Given the description of an element on the screen output the (x, y) to click on. 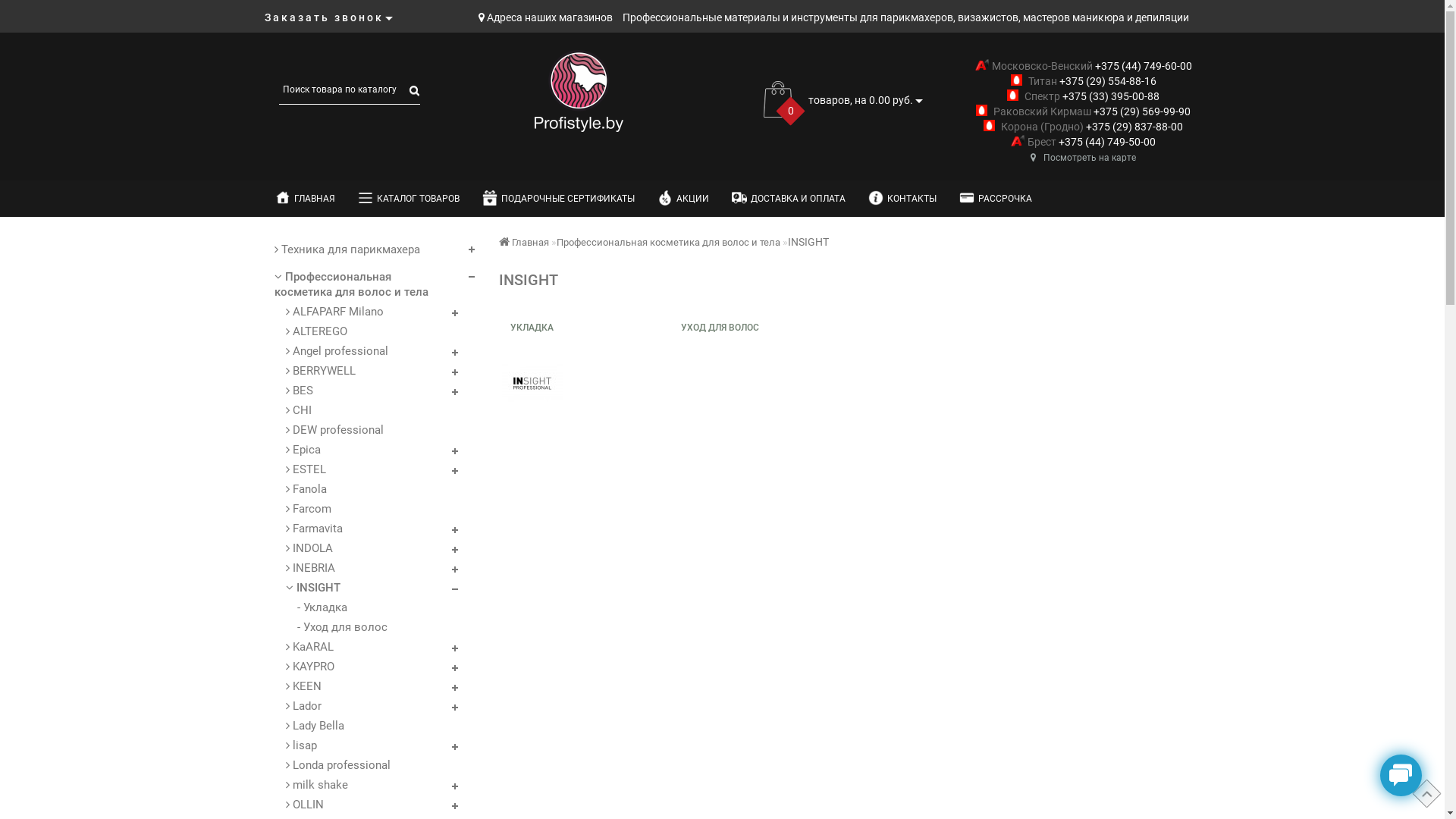
KAYPRO Element type: text (364, 666)
+375 (44) 749-50-00 Element type: text (1105, 141)
MTS Element type: hover (981, 64)
Lady Bella Element type: text (364, 725)
Fanola Element type: text (364, 488)
+375 (29) 554-88-16 Element type: text (1106, 81)
INEBRIA Element type: text (364, 567)
KEEN Element type: text (364, 685)
lisap Element type: text (364, 745)
MTS Element type: hover (1017, 140)
CHI Element type: text (364, 409)
INDOLA Element type: text (364, 547)
MTS Element type: hover (1012, 94)
MTS Element type: hover (1016, 79)
OLLIN Element type: text (364, 804)
DEW professional Element type: text (364, 429)
Lador Element type: text (364, 705)
ESTEL Element type: text (364, 468)
INSIGHT Element type: hover (531, 383)
+375 (29) 837-88-00 Element type: text (1133, 126)
+375 (29) 569-99-90 Element type: text (1140, 111)
milk shake Element type: text (364, 784)
MTS Element type: hover (981, 110)
ALFAPARF Milano Element type: text (364, 311)
cart Element type: hover (777, 99)
+375 (33) 395-00-88 Element type: text (1109, 96)
Londa professional Element type: text (364, 764)
ALTEREGO Element type: text (364, 330)
BES Element type: text (364, 390)
Epica Element type: text (364, 449)
BERRYWELL Element type: text (364, 370)
Farcom Element type: text (364, 508)
INSIGHT Element type: text (364, 587)
+375 (44) 749-60-00 Element type: text (1142, 65)
Farmavita Element type: text (364, 528)
Angel professional Element type: text (364, 350)
KaARAL Element type: text (364, 646)
MTS Element type: hover (988, 125)
